Given the description of an element on the screen output the (x, y) to click on. 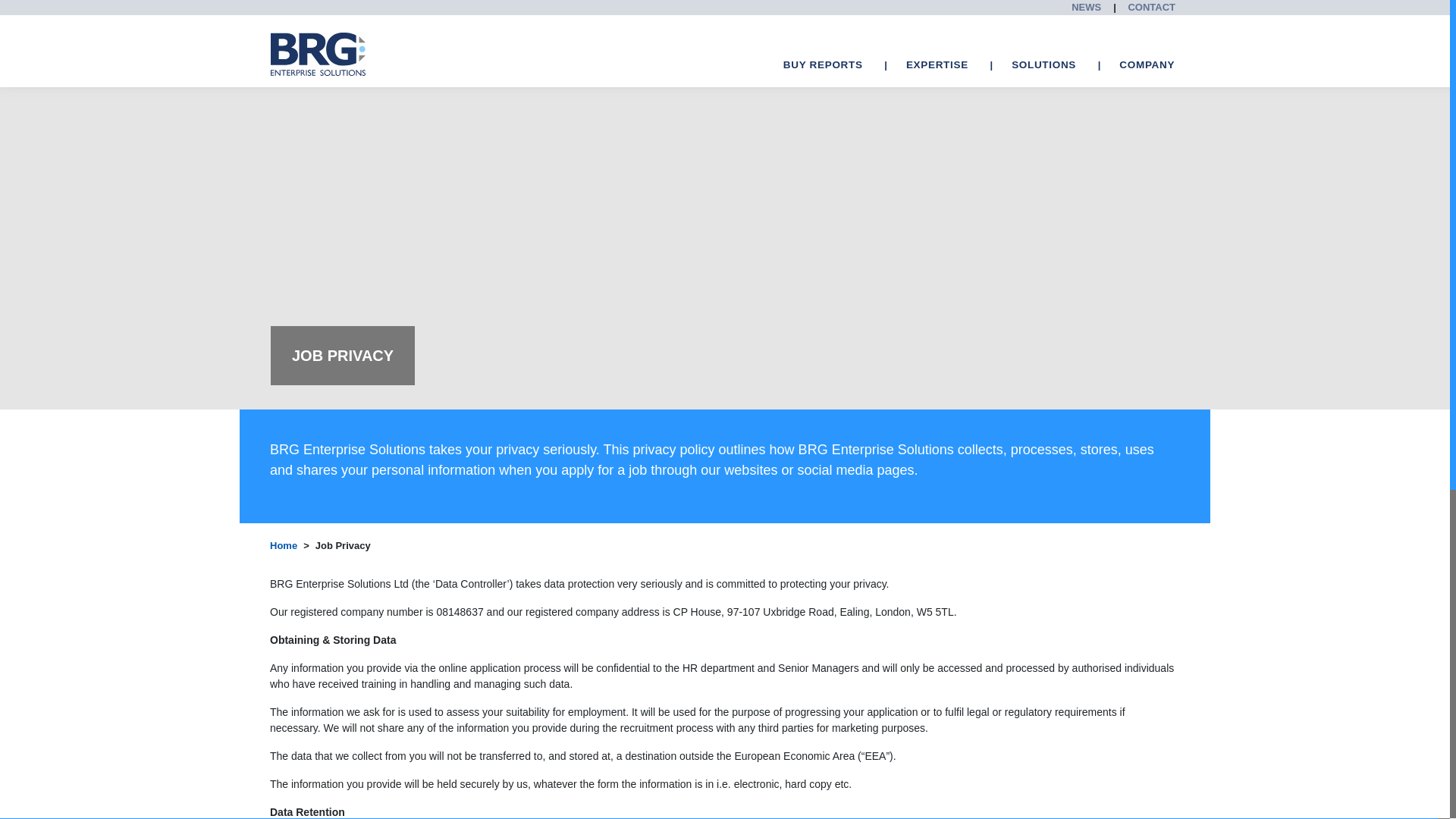
COMPANY (1146, 64)
Home (283, 545)
EXPERTISE (936, 64)
SOLUTIONS (1043, 64)
NEWS (1085, 7)
BUY REPORTS (823, 64)
CONTACT (1150, 7)
